Given the description of an element on the screen output the (x, y) to click on. 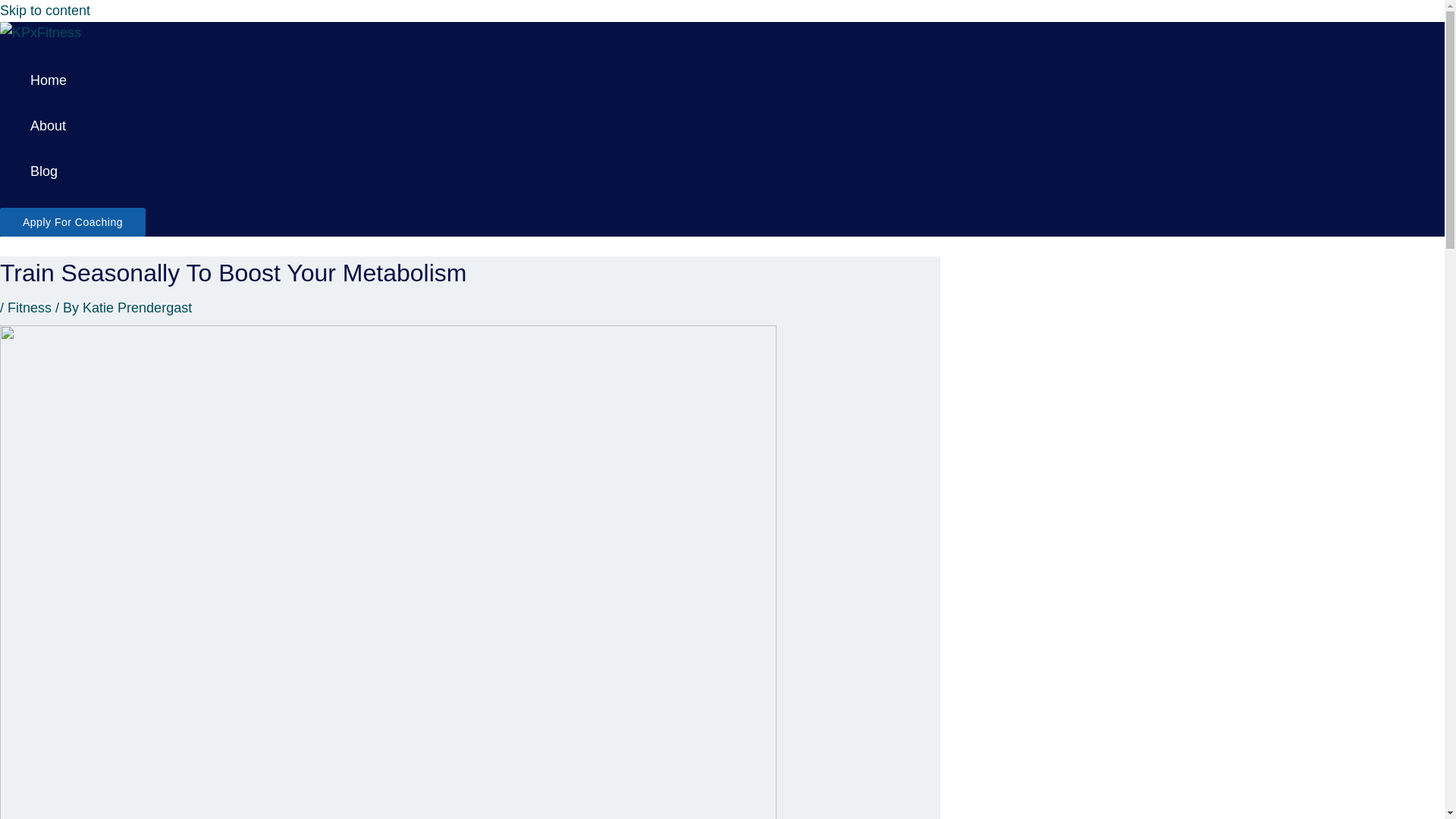
Katie Prendergast (137, 307)
Fitness (28, 307)
View all posts by Katie Prendergast (137, 307)
Skip to content (45, 10)
Apply For Coaching (72, 222)
Skip to content (45, 10)
